Given the description of an element on the screen output the (x, y) to click on. 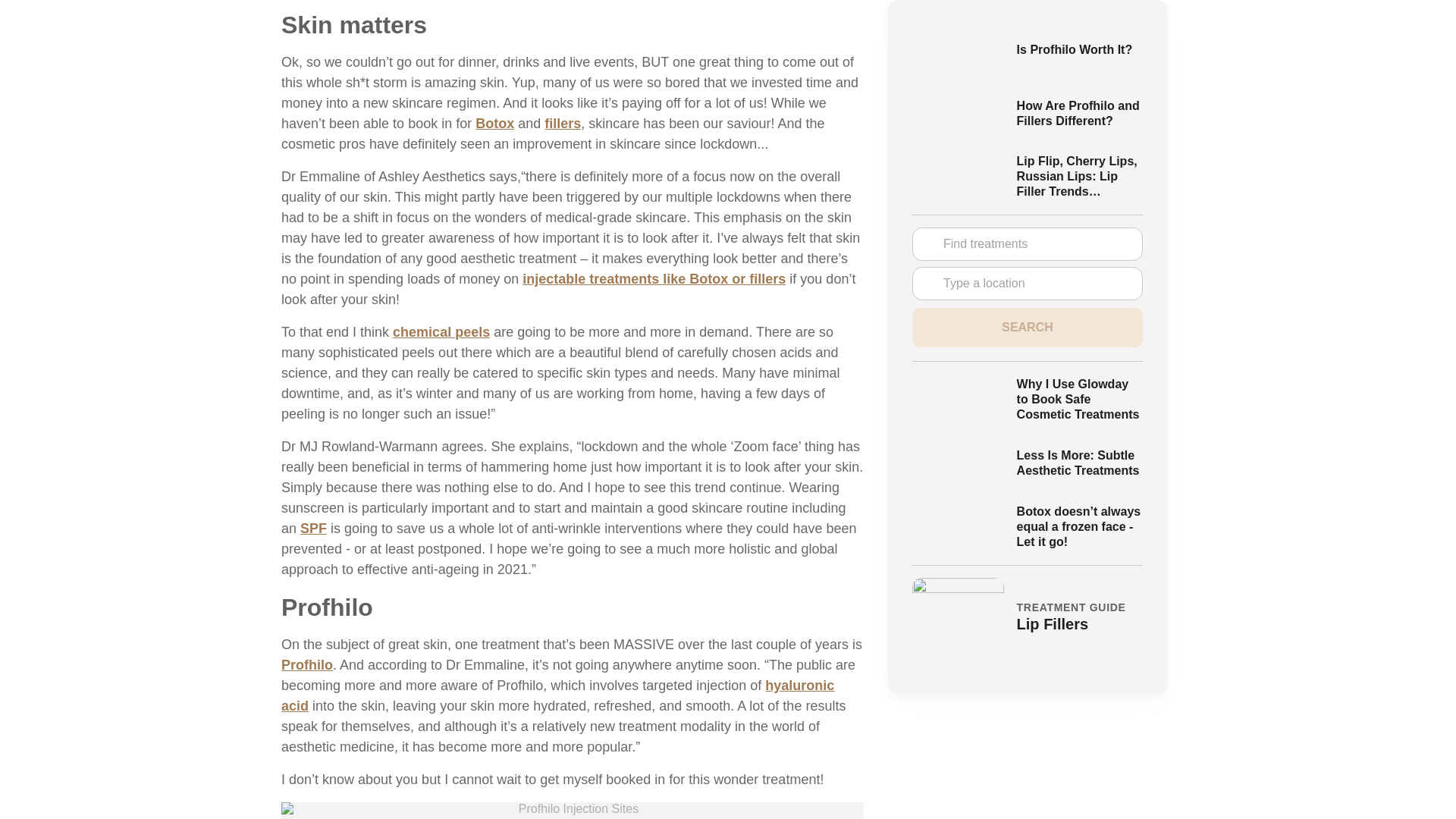
expand the image (572, 810)
Botox (494, 123)
hyaluronic acid (557, 695)
SPF (312, 528)
injectable treatments like Botox or fillers (654, 278)
chemical peels (441, 331)
fillers (562, 123)
Profhilo (307, 664)
